Given the description of an element on the screen output the (x, y) to click on. 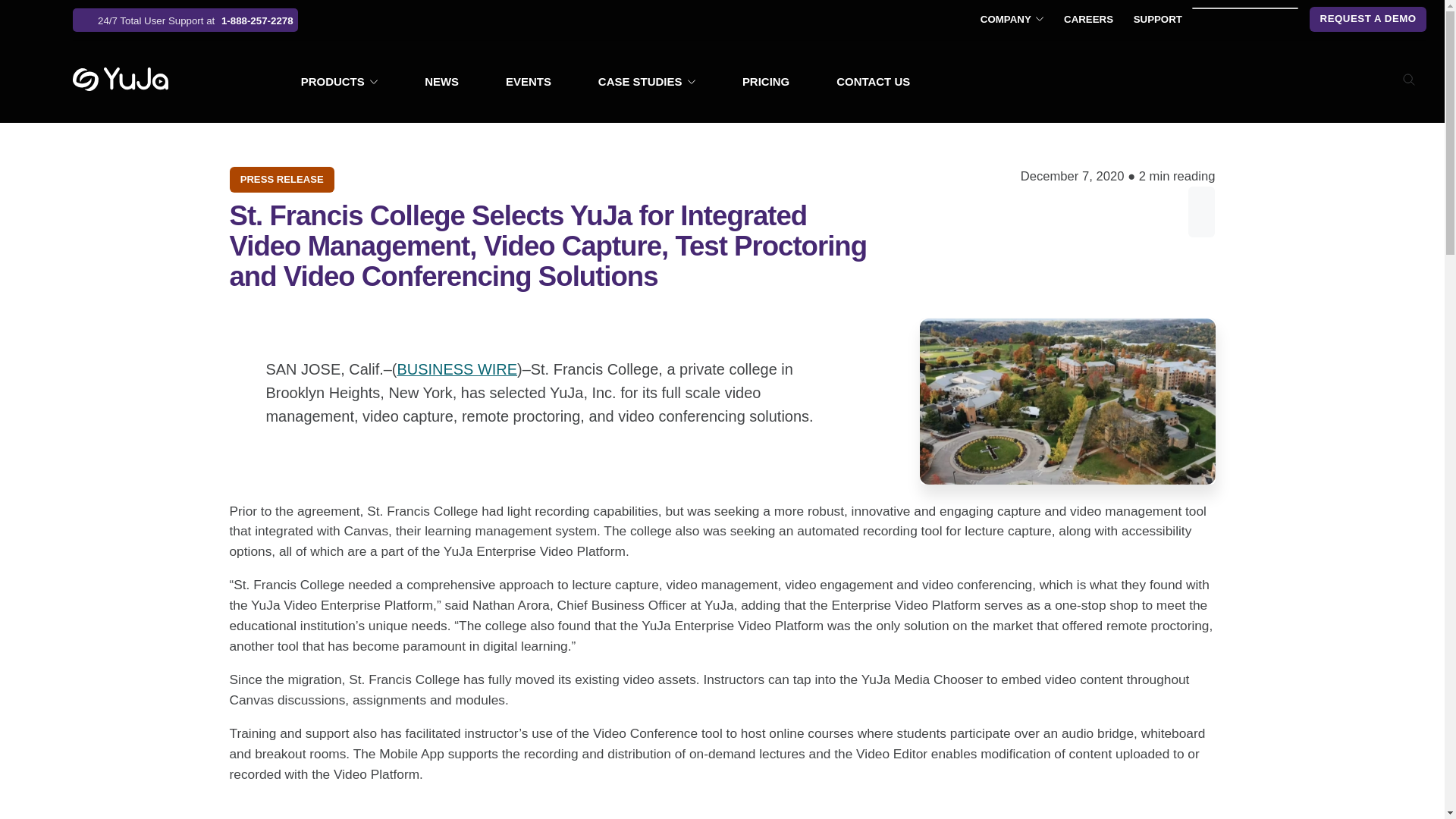
1-888-257-2278 (185, 20)
SUPPORT (1157, 20)
CAREERS (1089, 20)
COMPANY (1012, 20)
